Given the description of an element on the screen output the (x, y) to click on. 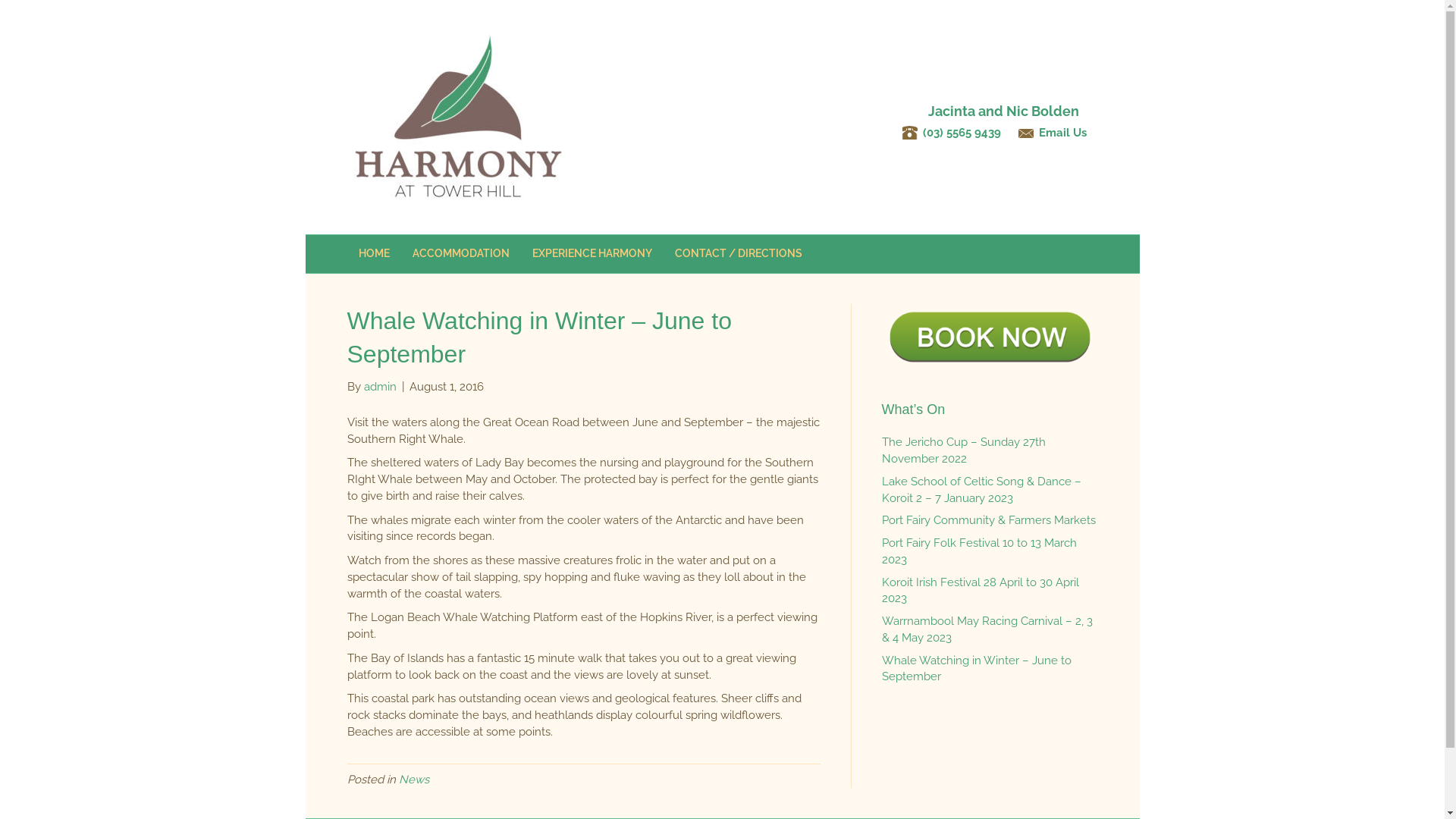
News Element type: text (413, 779)
Port Fairy Community & Farmers Markets Element type: text (988, 520)
Koroit Irish Festival 28 April to 30 April 2023 Element type: text (979, 590)
HOME Element type: text (374, 254)
CONTACT / DIRECTIONS Element type: text (737, 254)
EXPERIENCE HARMONY Element type: text (591, 254)
ACCOMMODATION Element type: text (460, 254)
admin Element type: text (380, 386)
Port Fairy Folk Festival 10 to 13 March 2023 Element type: text (978, 551)
